Given the description of an element on the screen output the (x, y) to click on. 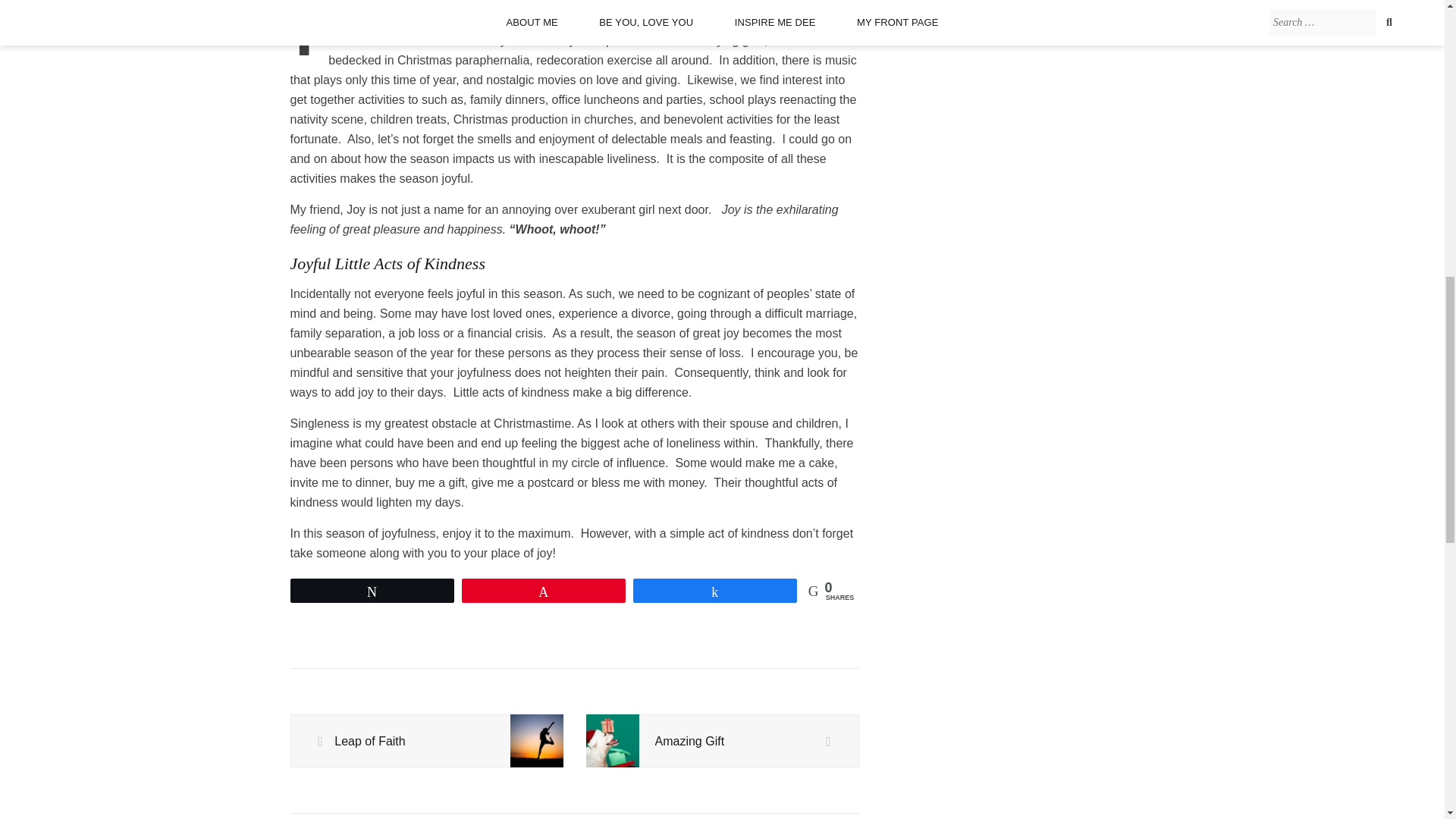
Amazing Gift (722, 741)
Unmasked (924, 39)
Leap of Faith (426, 741)
Inspire Me Dee (937, 4)
Leap of Faith (426, 741)
Live Your Dreams (943, 21)
